Given the description of an element on the screen output the (x, y) to click on. 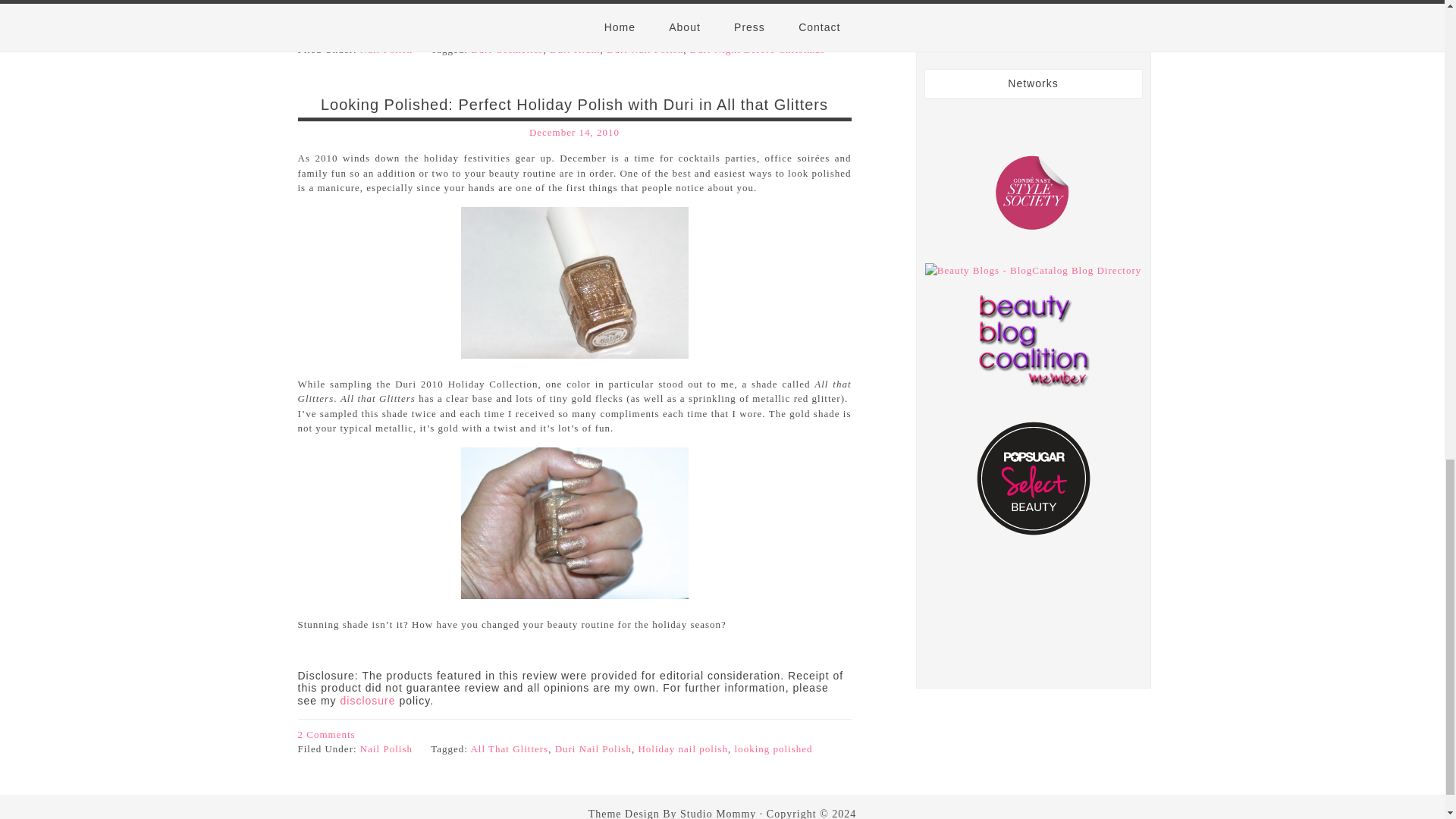
2 Comments (326, 734)
Disclosure (368, 700)
2 Comments (326, 34)
All That Glitters (509, 748)
Nail Polish (385, 748)
disclosure (368, 700)
Duri 2010 Holiday Collection - All that Glitters (574, 522)
Duri Krakl (574, 49)
Nail Polish (385, 49)
Duri Nail Polish (644, 49)
Duri Night Before Christmas (757, 49)
Holiday nail polish (682, 748)
Duri Cosmetics (506, 49)
Beauty Blogs - BlogCatalog Blog Directory (1032, 270)
